Given the description of an element on the screen output the (x, y) to click on. 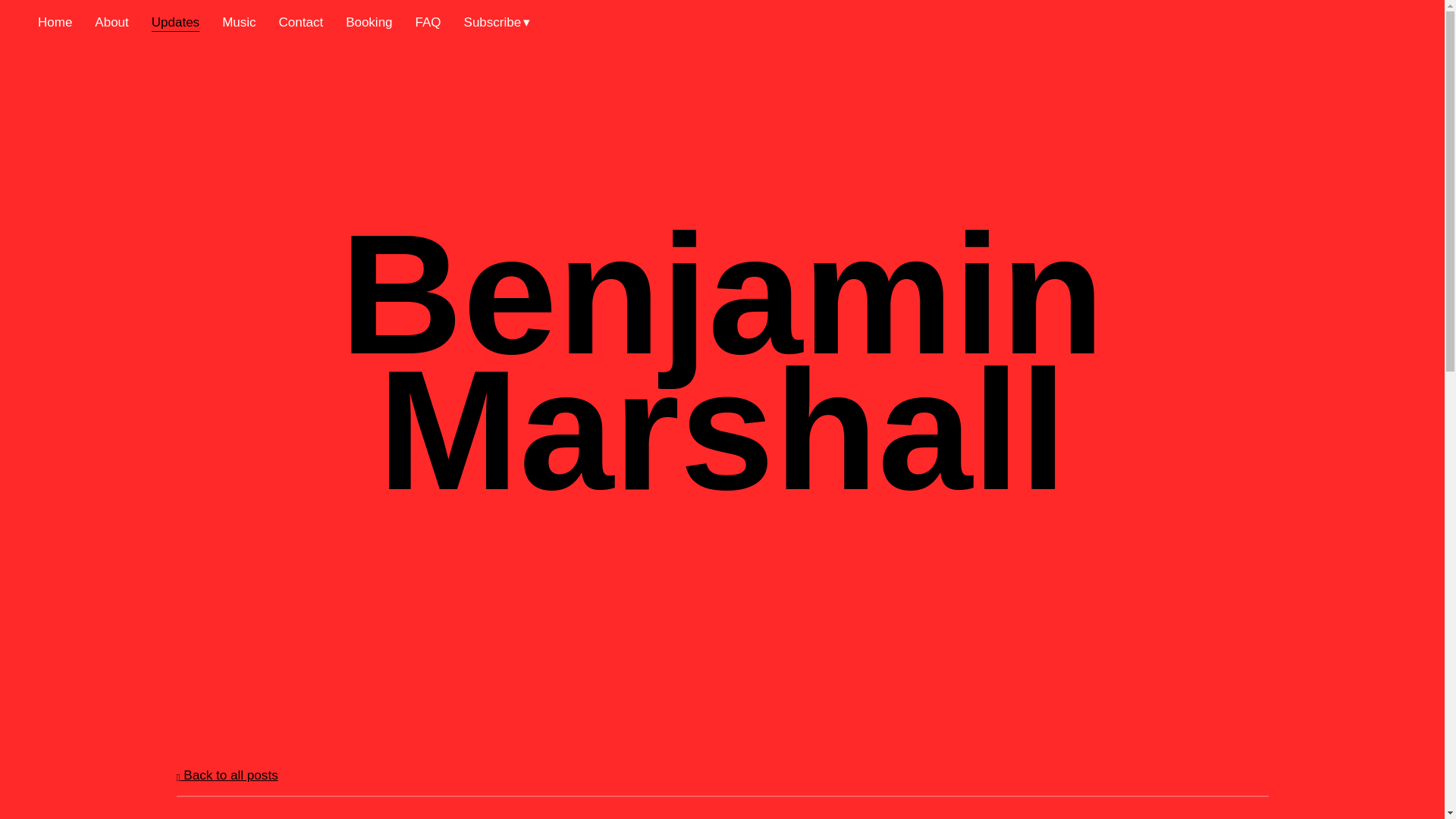
Music (239, 22)
Contact (301, 22)
FAQ (427, 22)
Subscribe (497, 22)
Home (54, 22)
Updates (175, 22)
Benjamin Marshall (721, 482)
Back to all posts (227, 775)
About (111, 22)
Booking (368, 22)
